Given the description of an element on the screen output the (x, y) to click on. 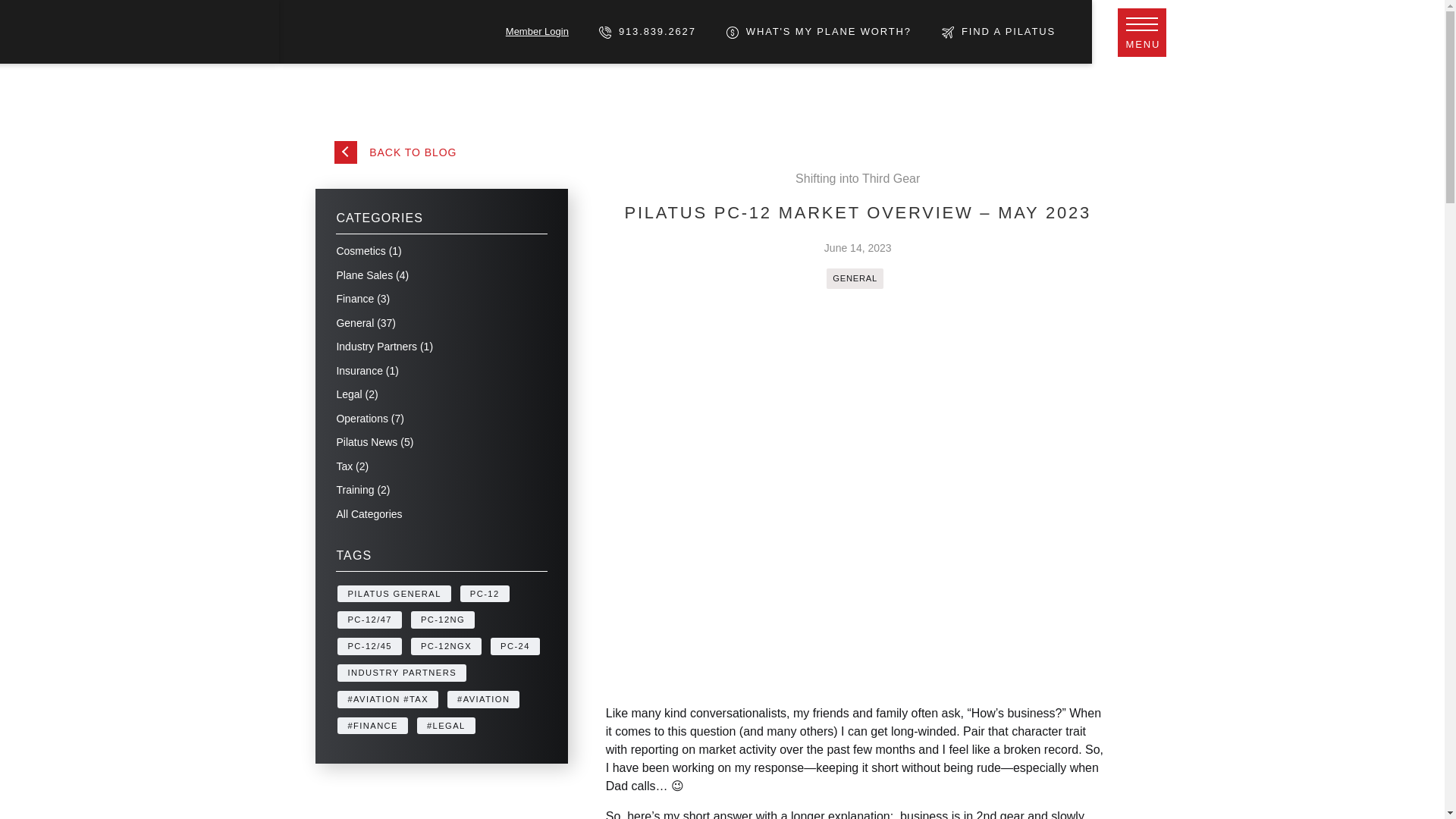
Member Login (537, 30)
FIND A PILATUS (998, 30)
WHAT'S MY PLANE WORTH? (818, 30)
MENU (1142, 32)
BACK TO BLOG (395, 150)
913.839.2627 (646, 30)
